Given the description of an element on the screen output the (x, y) to click on. 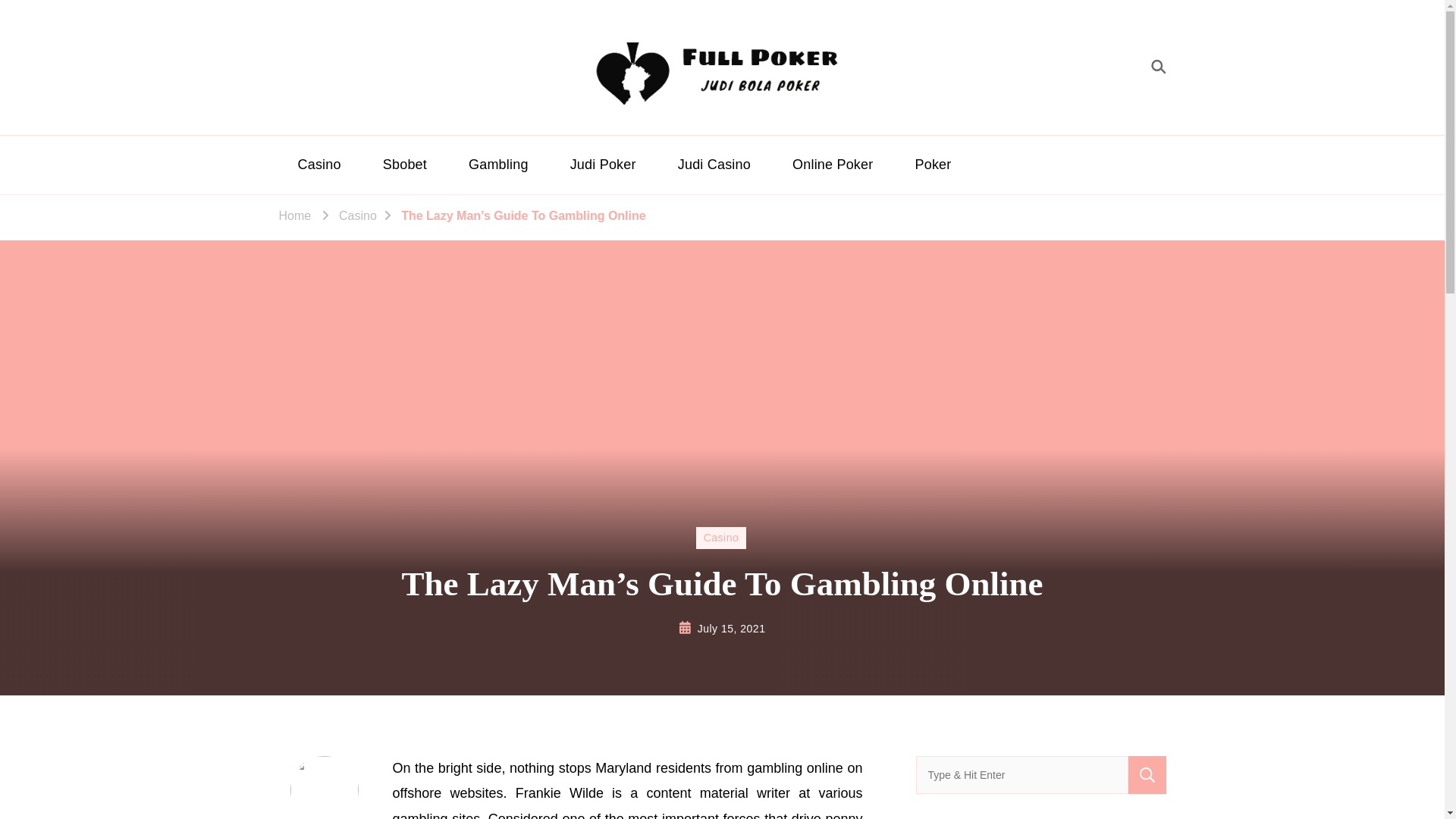
Search (1147, 774)
Home (295, 216)
Gambling (498, 164)
Full Poker (774, 125)
admin (324, 787)
Sbobet (404, 164)
Judi Poker (603, 164)
July 15, 2021 (731, 628)
Judi Casino (714, 164)
Casino (319, 164)
Online Poker (832, 164)
Casino (720, 537)
Casino (358, 216)
Search (1147, 774)
Poker (933, 164)
